Given the description of an element on the screen output the (x, y) to click on. 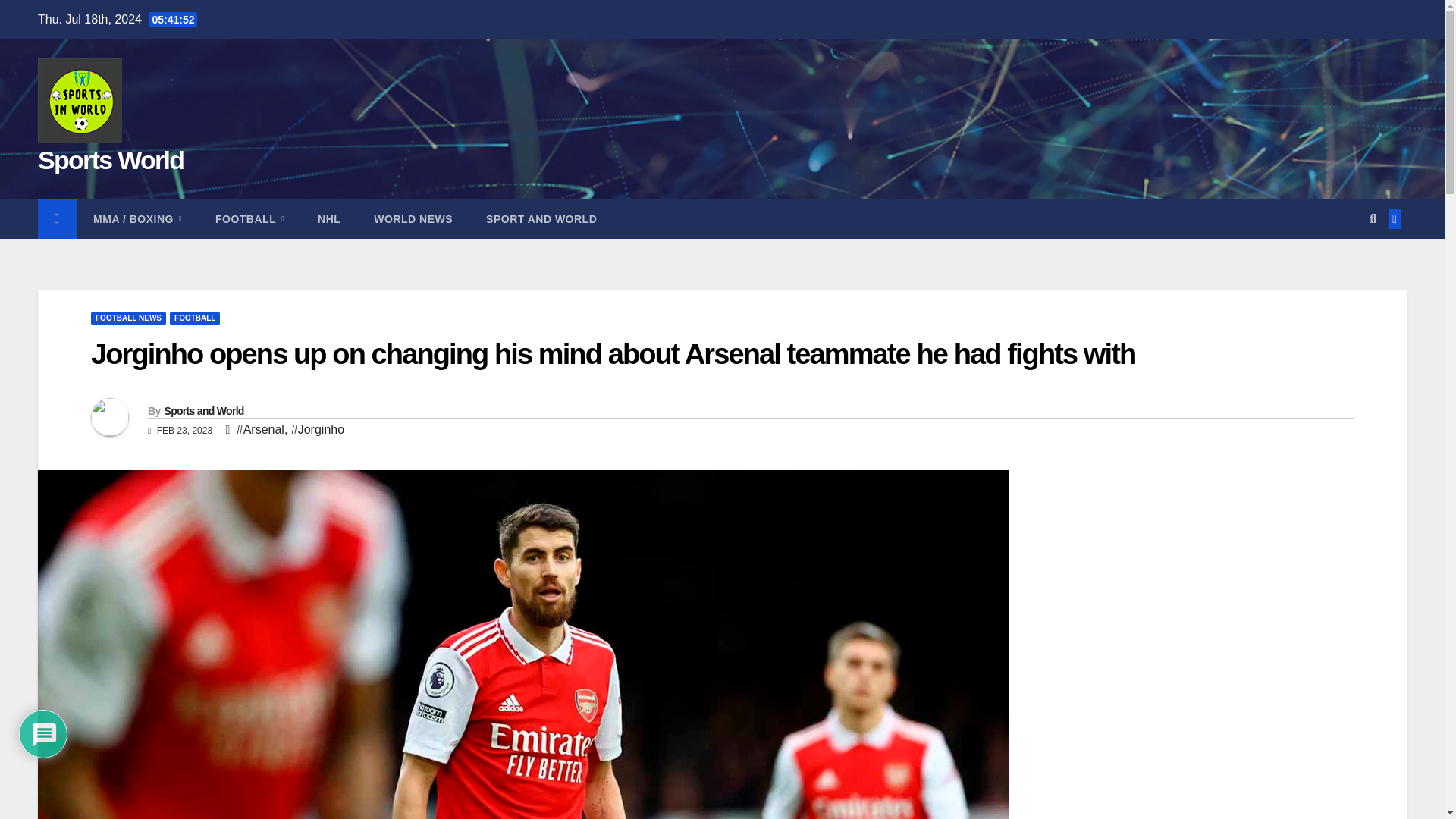
WORLD NEWS (412, 219)
Sports and World (203, 410)
SPORT AND WORLD (540, 219)
Football (249, 219)
FOOTBALL NEWS (127, 318)
NHL (328, 219)
World news (412, 219)
NHL (328, 219)
FOOTBALL (194, 318)
Sports World (110, 159)
FOOTBALL (249, 219)
Sport and world (540, 219)
